Given the description of an element on the screen output the (x, y) to click on. 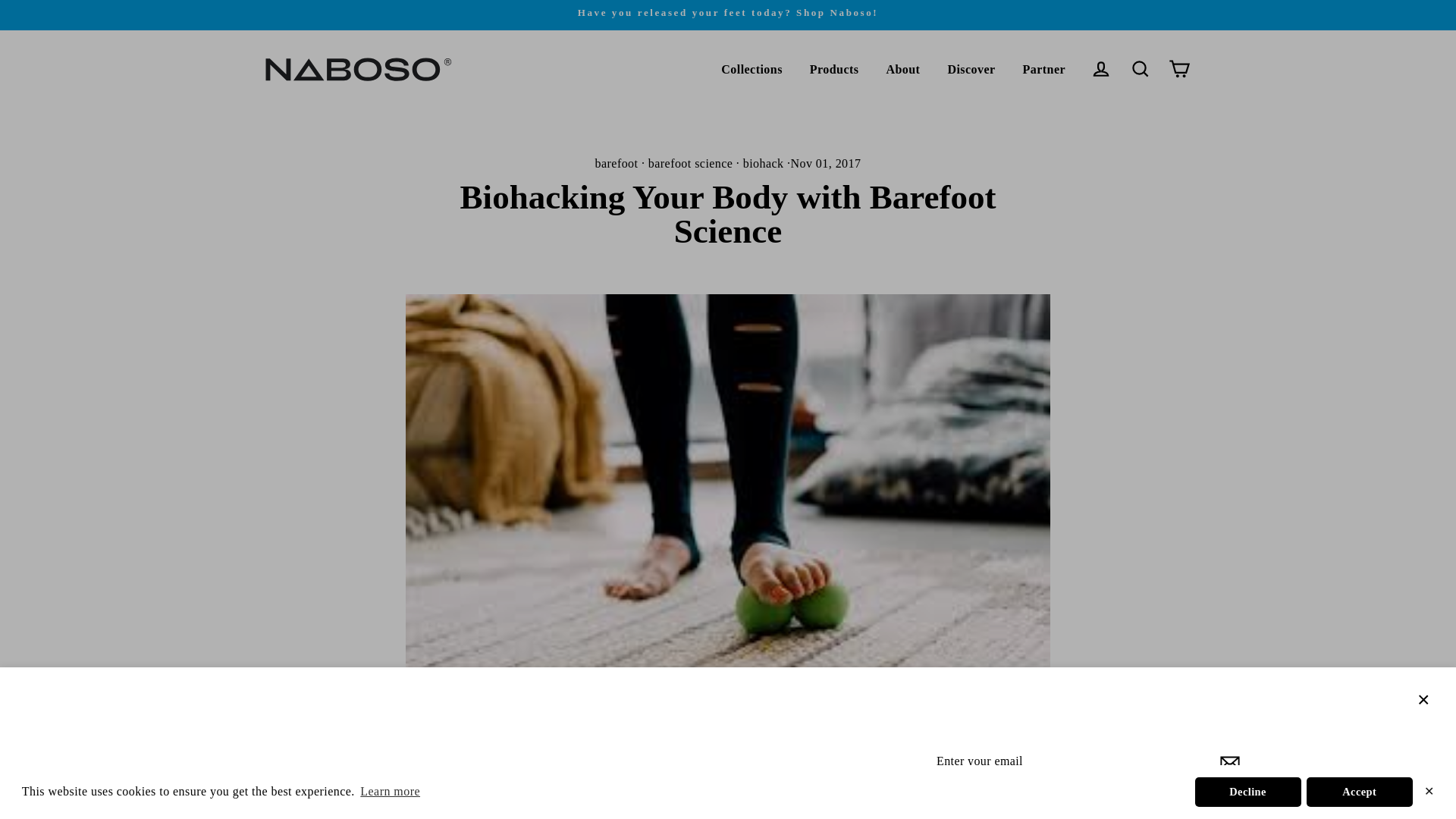
Decline (1248, 791)
Learn more (390, 791)
Accept (1359, 791)
